Given the description of an element on the screen output the (x, y) to click on. 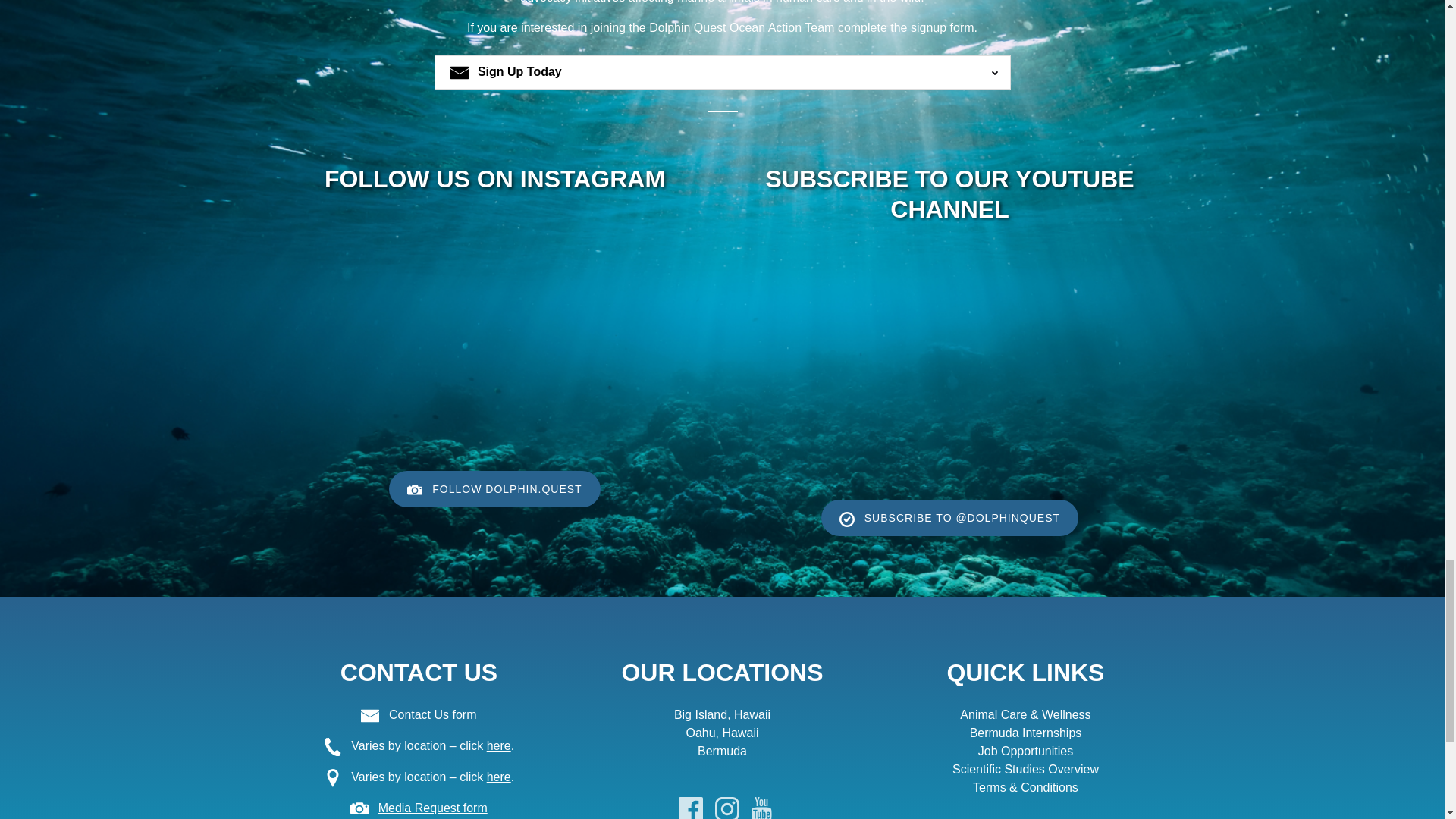
Envelope (458, 72)
Map Marker (332, 778)
Envelope (369, 715)
CHECKMARK (847, 519)
Phone (332, 746)
CAMERA (414, 489)
Camera (359, 808)
